Given the description of an element on the screen output the (x, y) to click on. 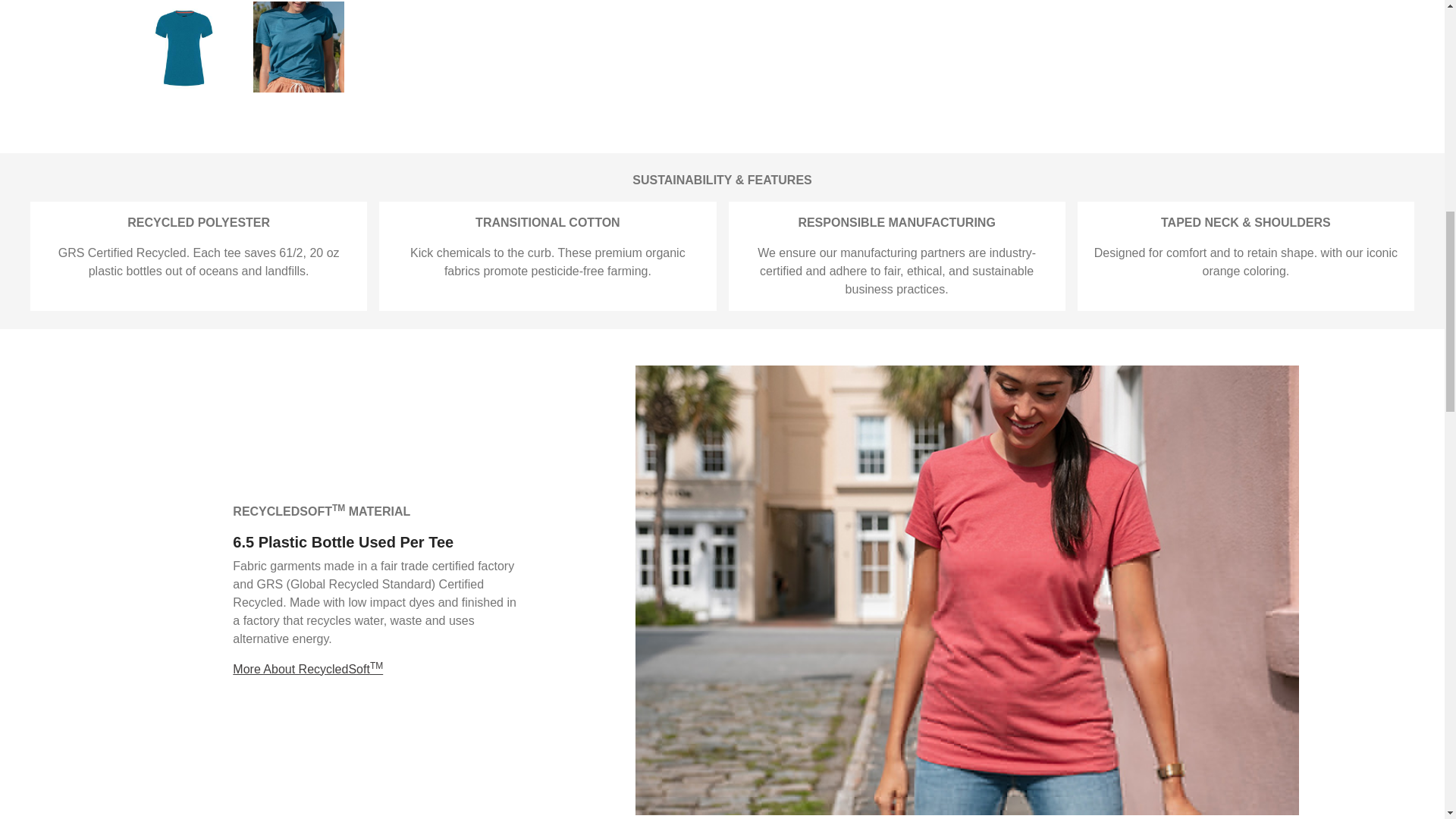
Astor Tee (184, 46)
